Given the description of an element on the screen output the (x, y) to click on. 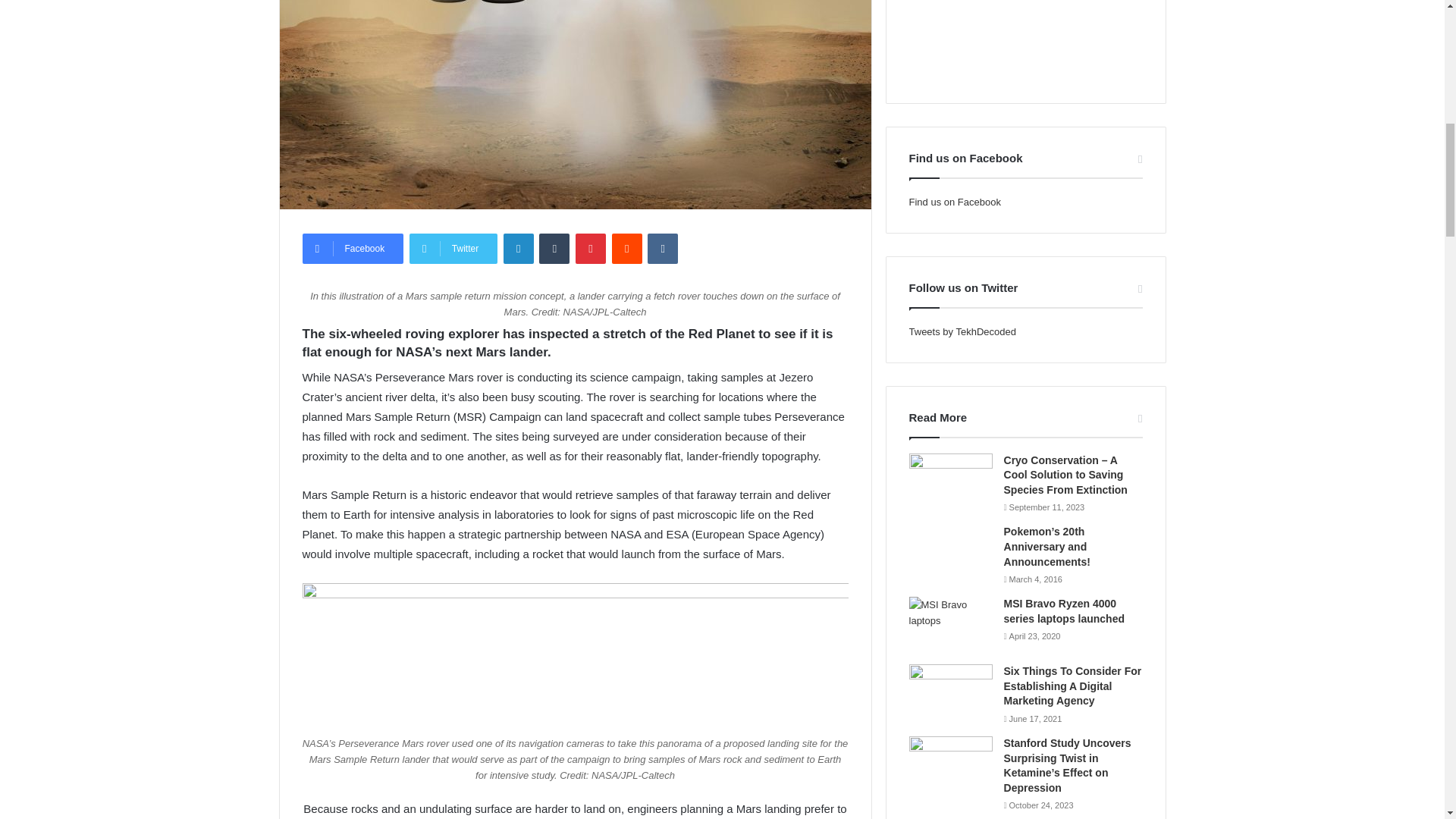
LinkedIn (518, 248)
Pinterest (590, 248)
VKontakte (662, 248)
Twitter (453, 248)
Tumblr (553, 248)
Facebook (352, 248)
Reddit (626, 248)
